Given the description of an element on the screen output the (x, y) to click on. 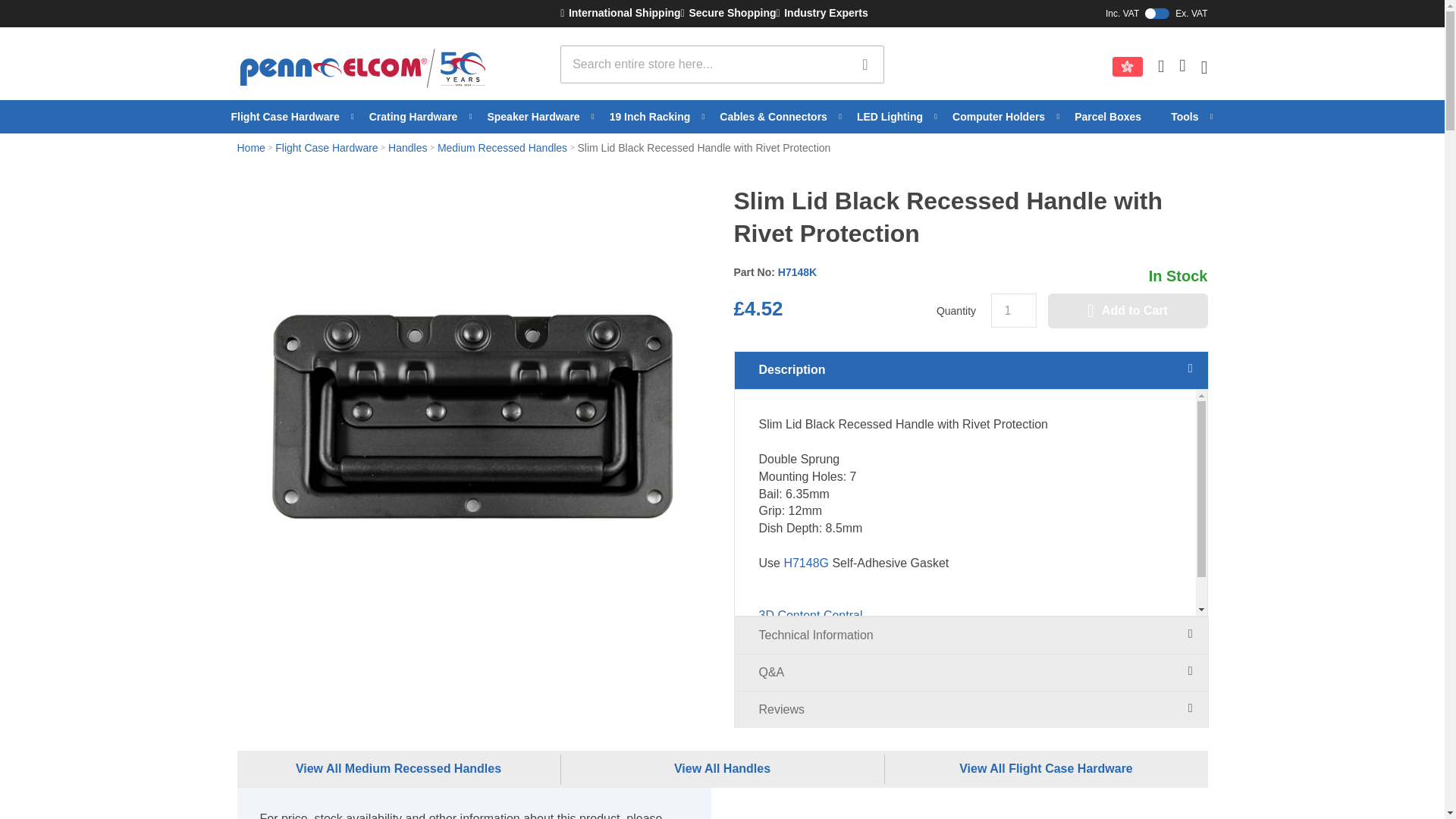
Add to Cart (1128, 310)
Secure Shopping (728, 13)
1 (1012, 310)
Quantity (1012, 310)
Flight Case Hardware (291, 116)
Industry Experts (821, 13)
International Shipping (620, 13)
Search (864, 64)
Search (1045, 13)
Availability (864, 64)
Go to Home Page (1178, 276)
